Given the description of an element on the screen output the (x, y) to click on. 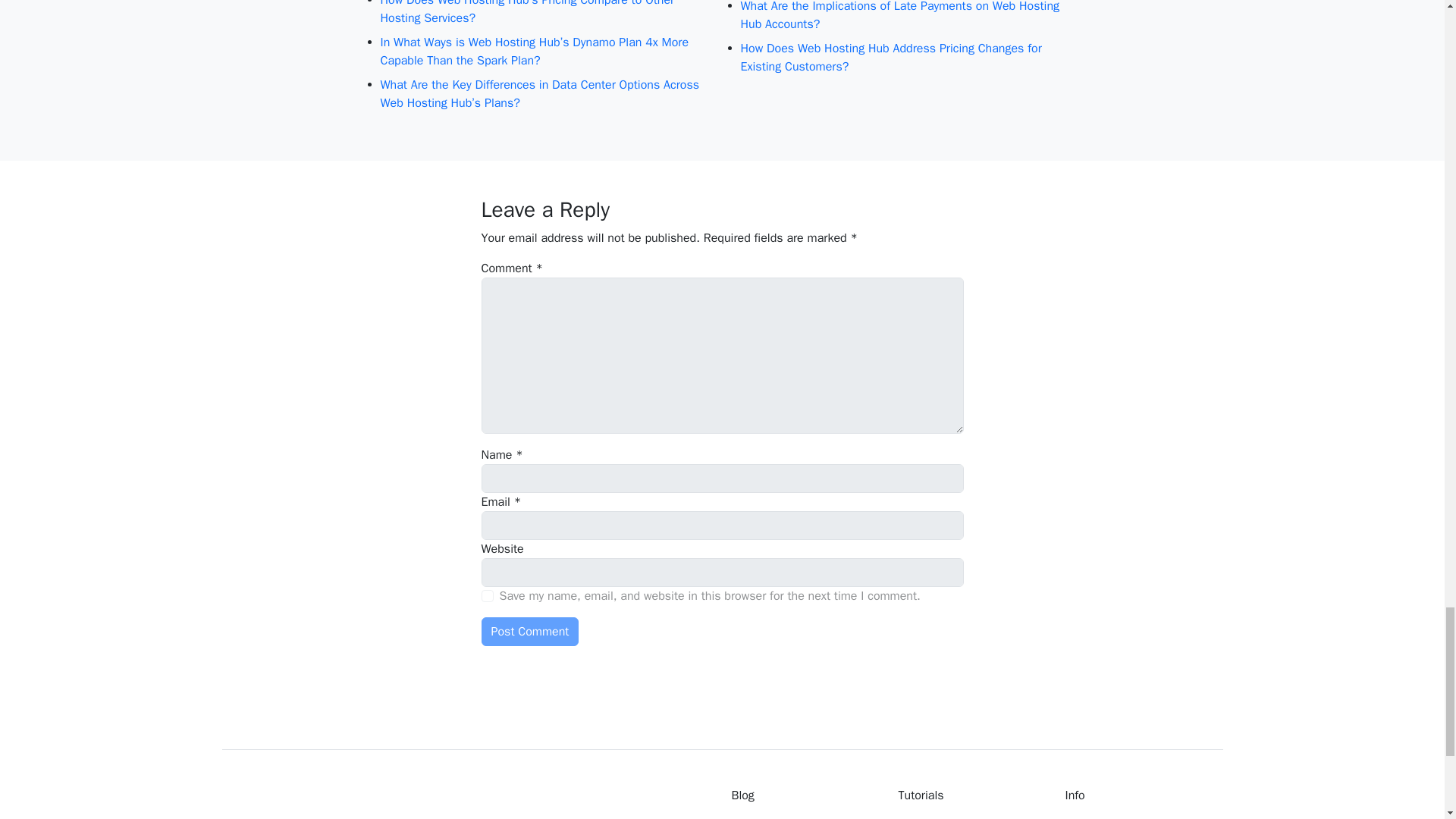
yes (486, 595)
Shared Hosting (803, 817)
Post Comment (529, 631)
Post Comment (529, 631)
